Given the description of an element on the screen output the (x, y) to click on. 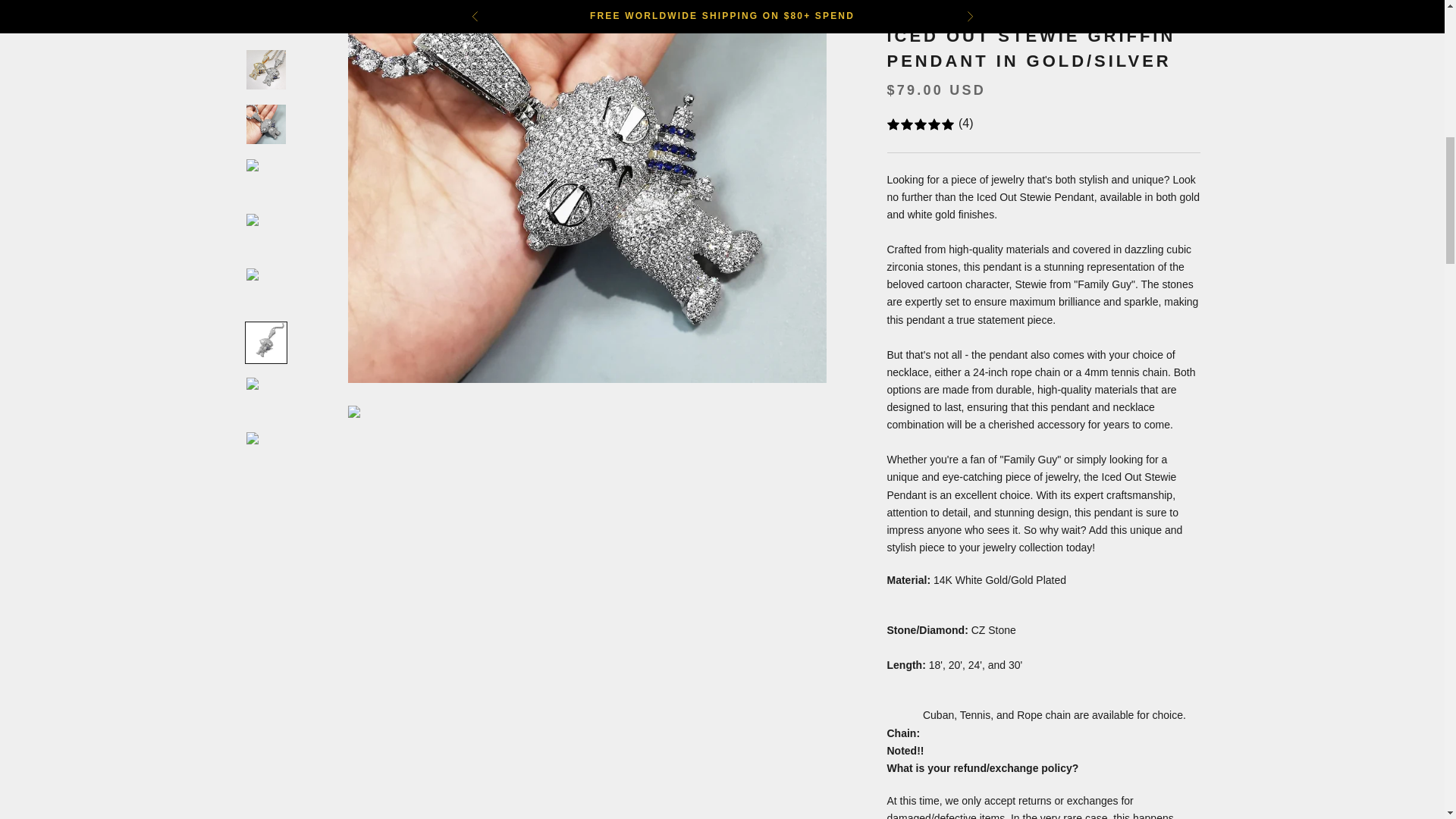
1 (935, 502)
